Given the description of an element on the screen output the (x, y) to click on. 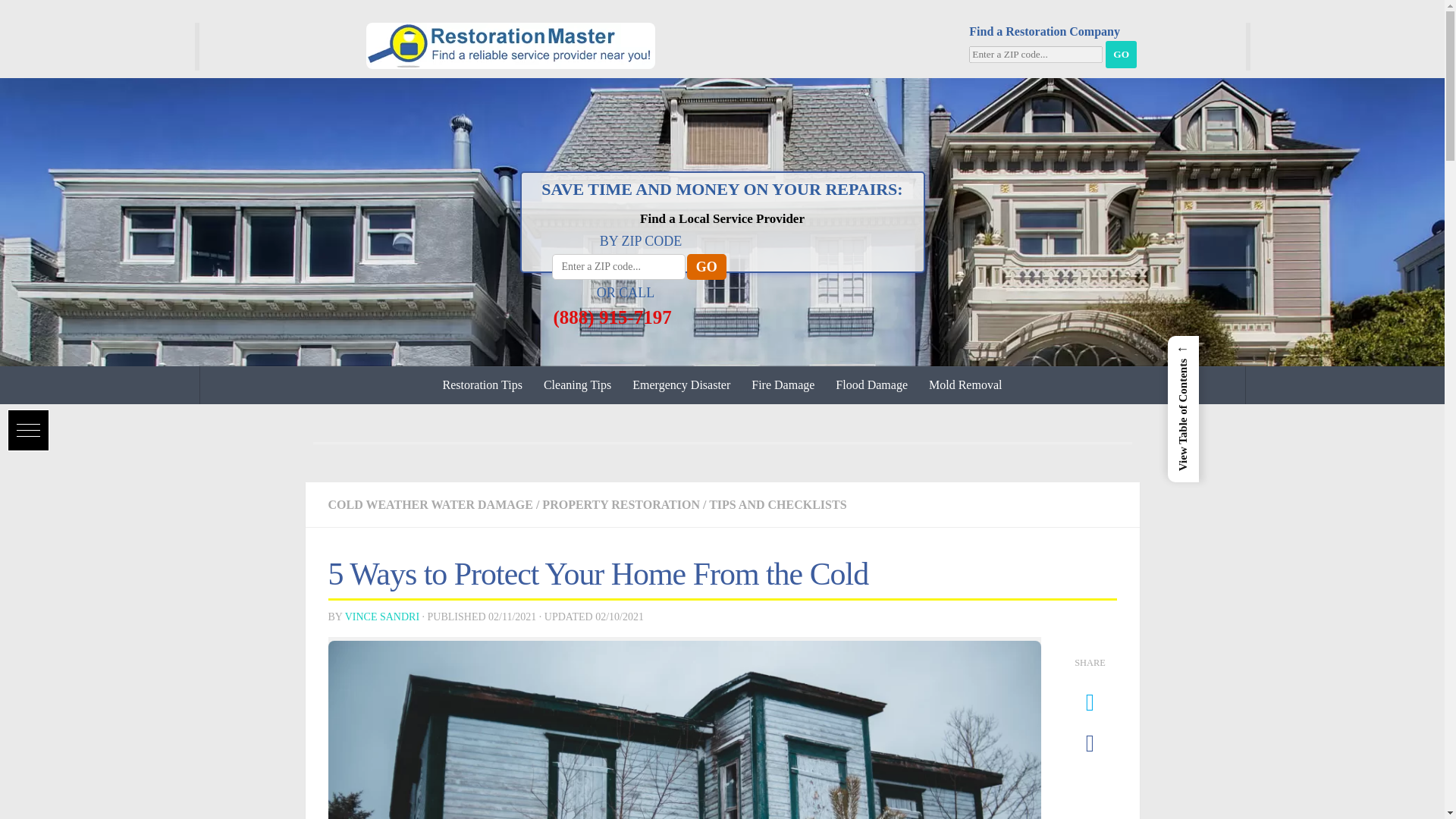
Search (34, 14)
Posts by Vince Sandri (382, 616)
GO (706, 266)
GO (1121, 53)
